Given the description of an element on the screen output the (x, y) to click on. 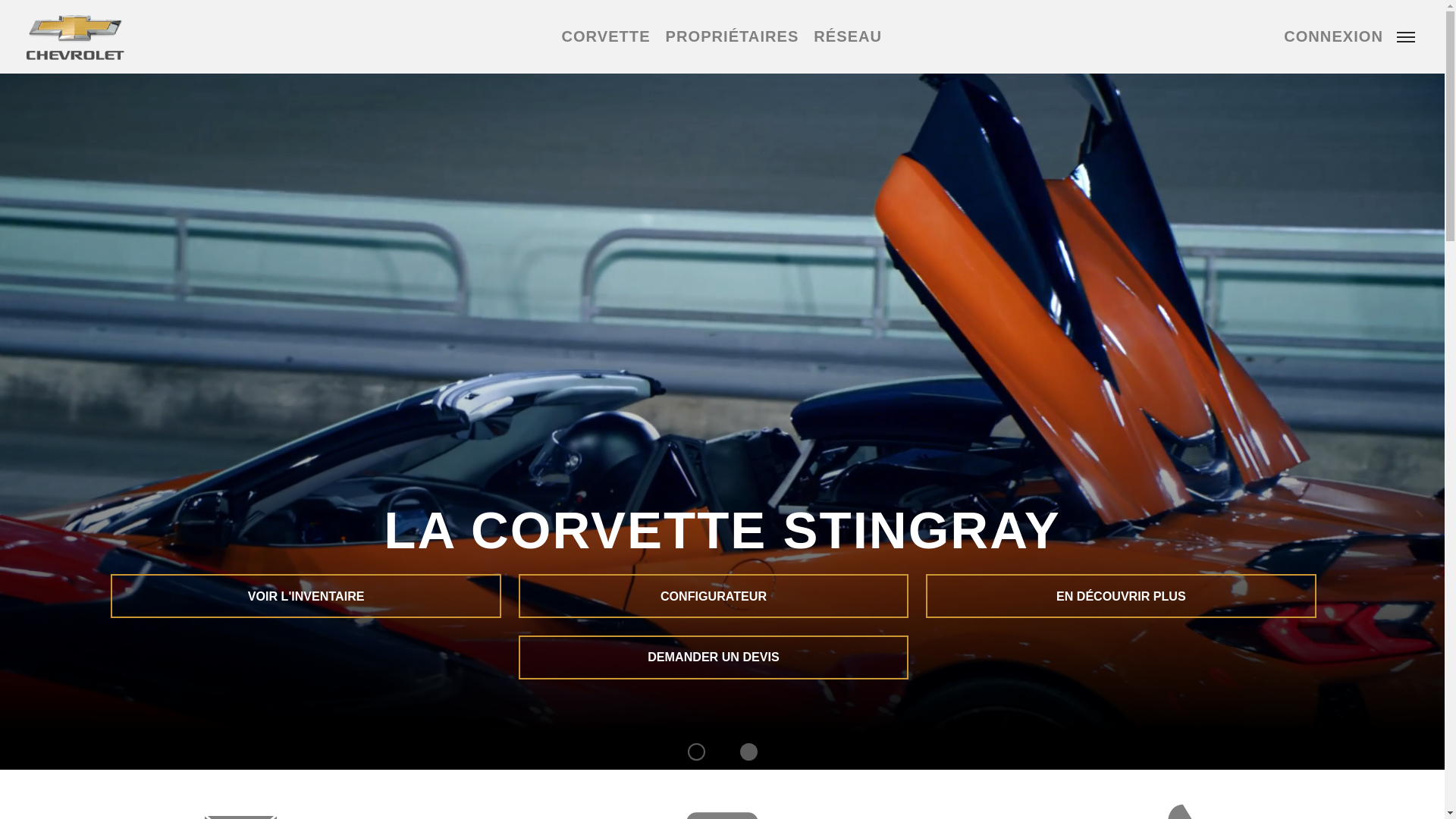
CONNEXION Element type: text (1333, 36)
CORVETTE Element type: text (605, 36)
DEMANDER UN DEVIS Element type: text (713, 657)
CONFIGURATEUR Element type: text (713, 596)
VOIR L'INVENTAIRE Element type: text (305, 596)
